Given the description of an element on the screen output the (x, y) to click on. 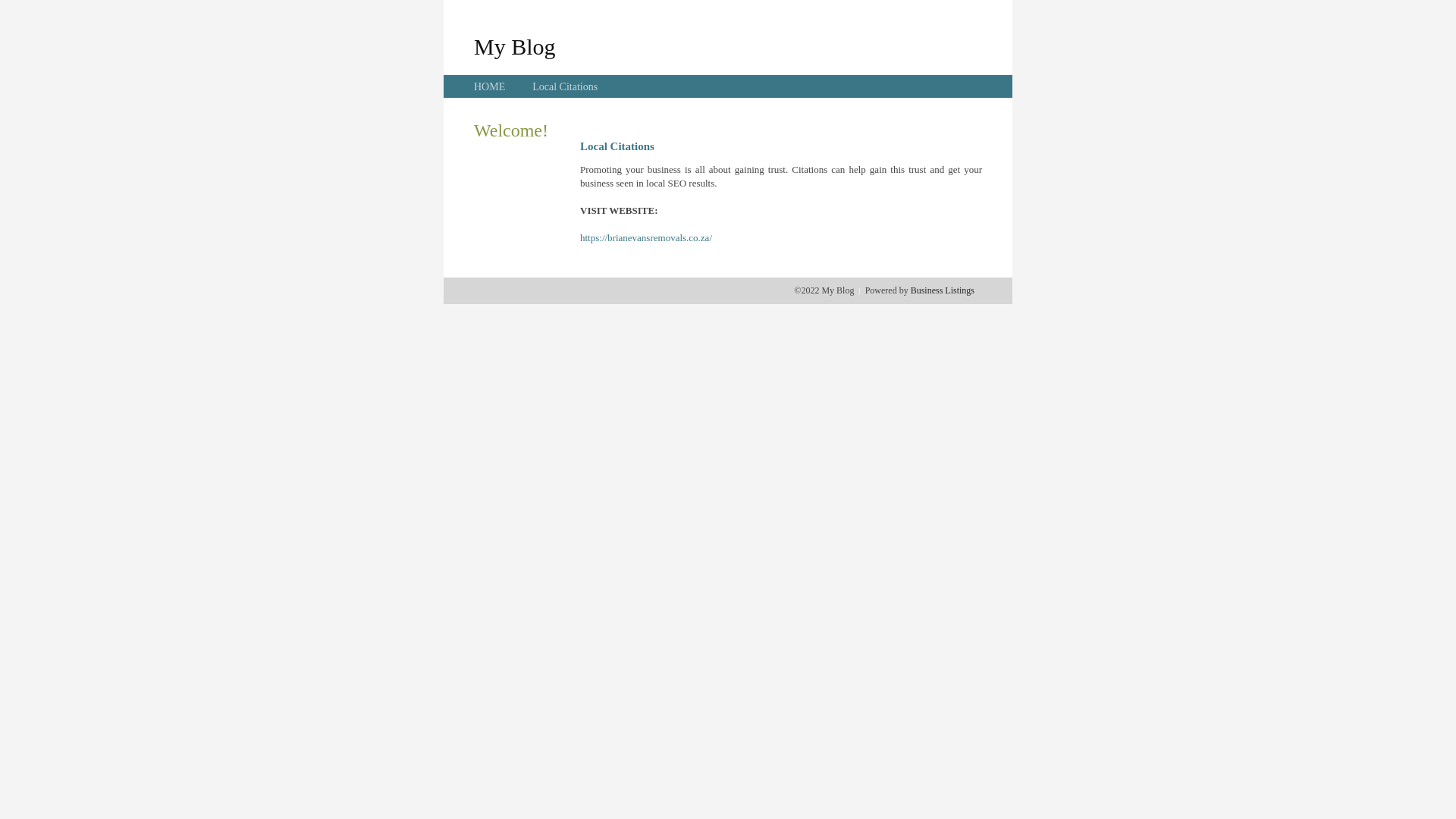
My Blog Element type: text (514, 46)
https://brianevansremovals.co.za/ Element type: text (646, 237)
HOME Element type: text (489, 86)
Business Listings Element type: text (942, 290)
Local Citations Element type: text (564, 86)
